Given the description of an element on the screen output the (x, y) to click on. 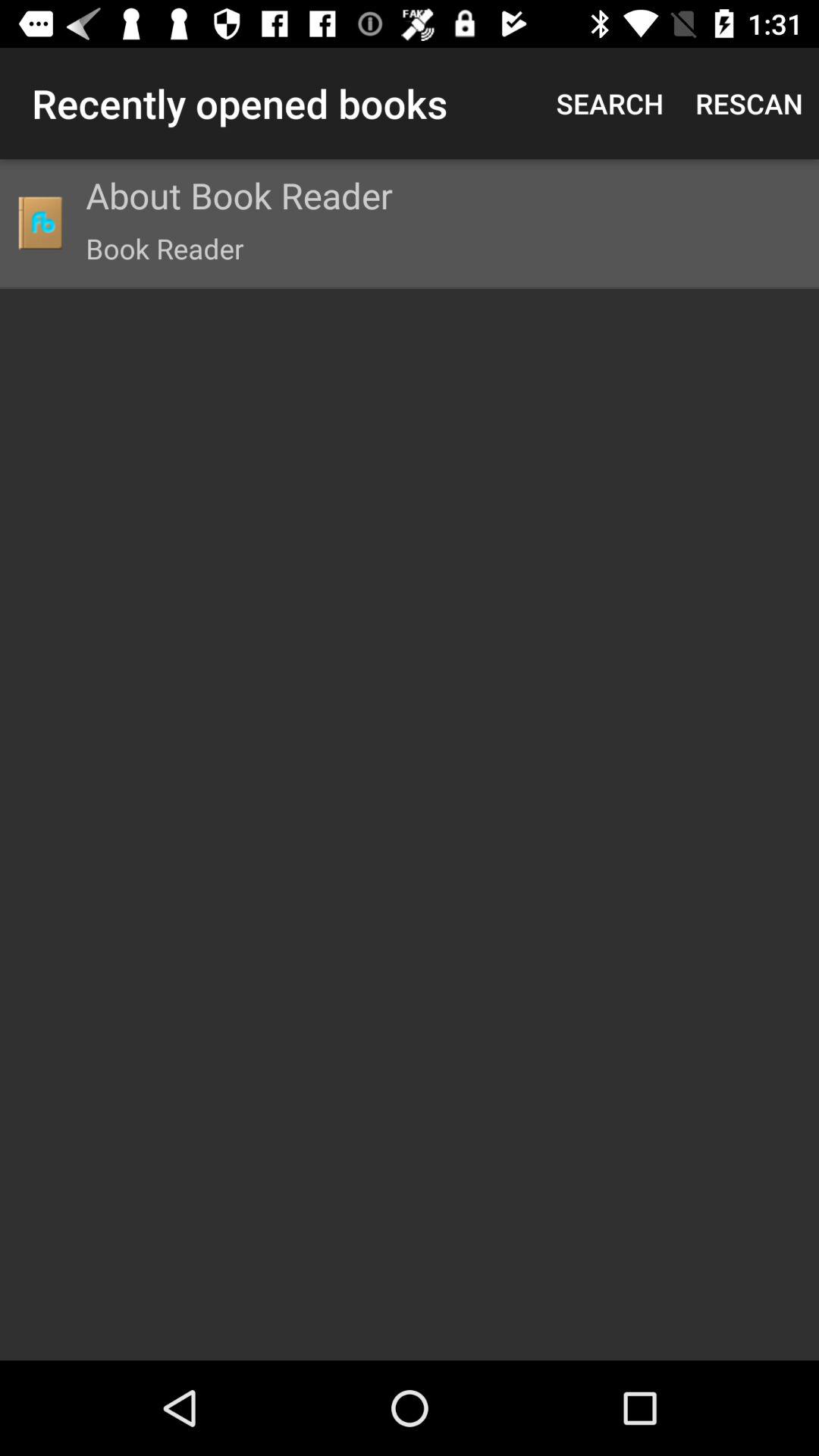
click the icon to the right of the search item (749, 103)
